Given the description of an element on the screen output the (x, y) to click on. 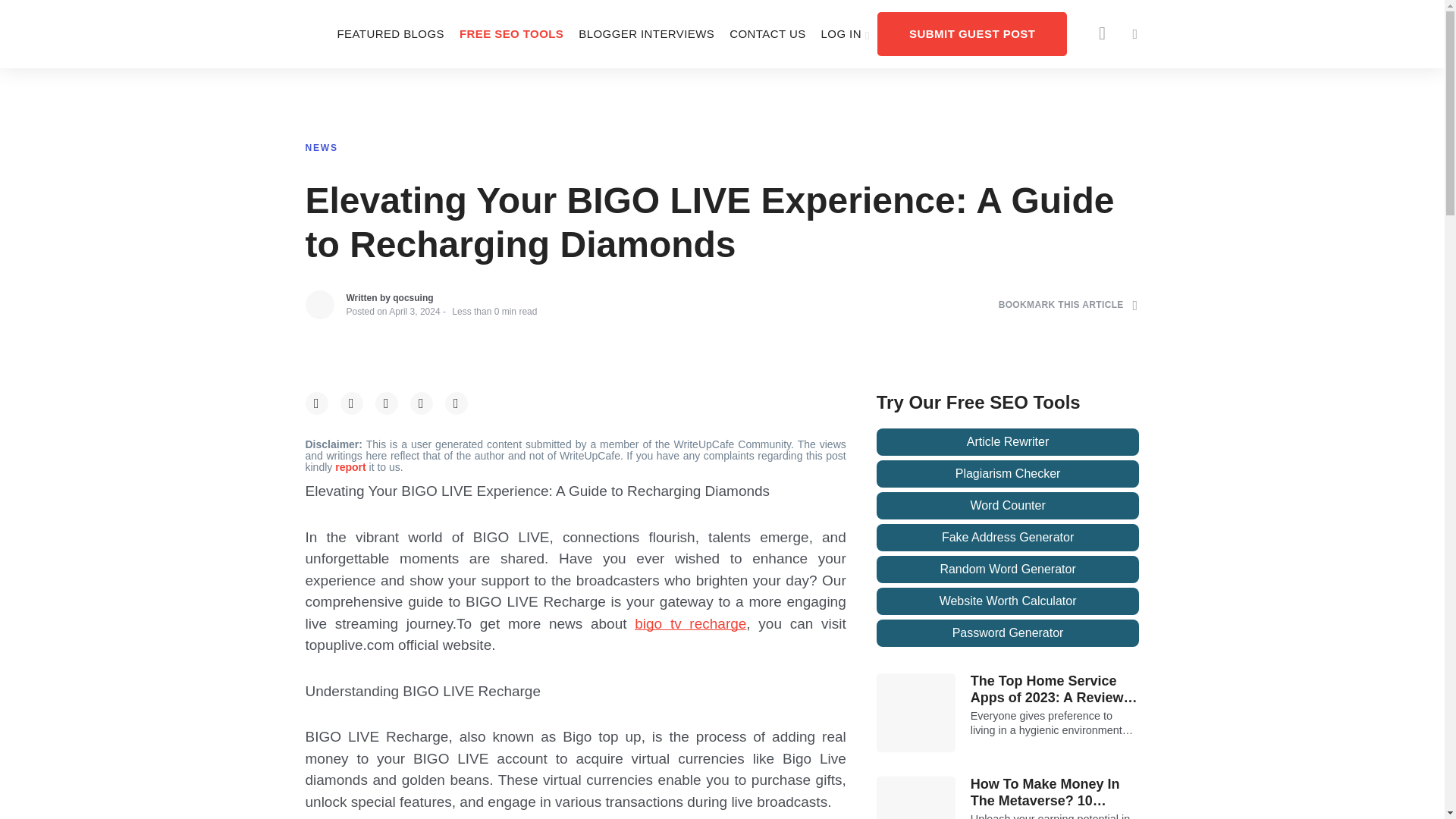
Plagiarism Checker (1008, 473)
SUBMIT GUEST POST (972, 33)
FEATURED BLOGS (390, 33)
FREE SEO TOOLS (510, 33)
SUBMIT GUEST POST (972, 33)
qocsuing (412, 297)
Website Worth Calculator (1008, 601)
BLOGGER INTERVIEWS (646, 33)
BOOKMARK THIS ARTICLE (1068, 304)
report (351, 467)
